Given the description of an element on the screen output the (x, y) to click on. 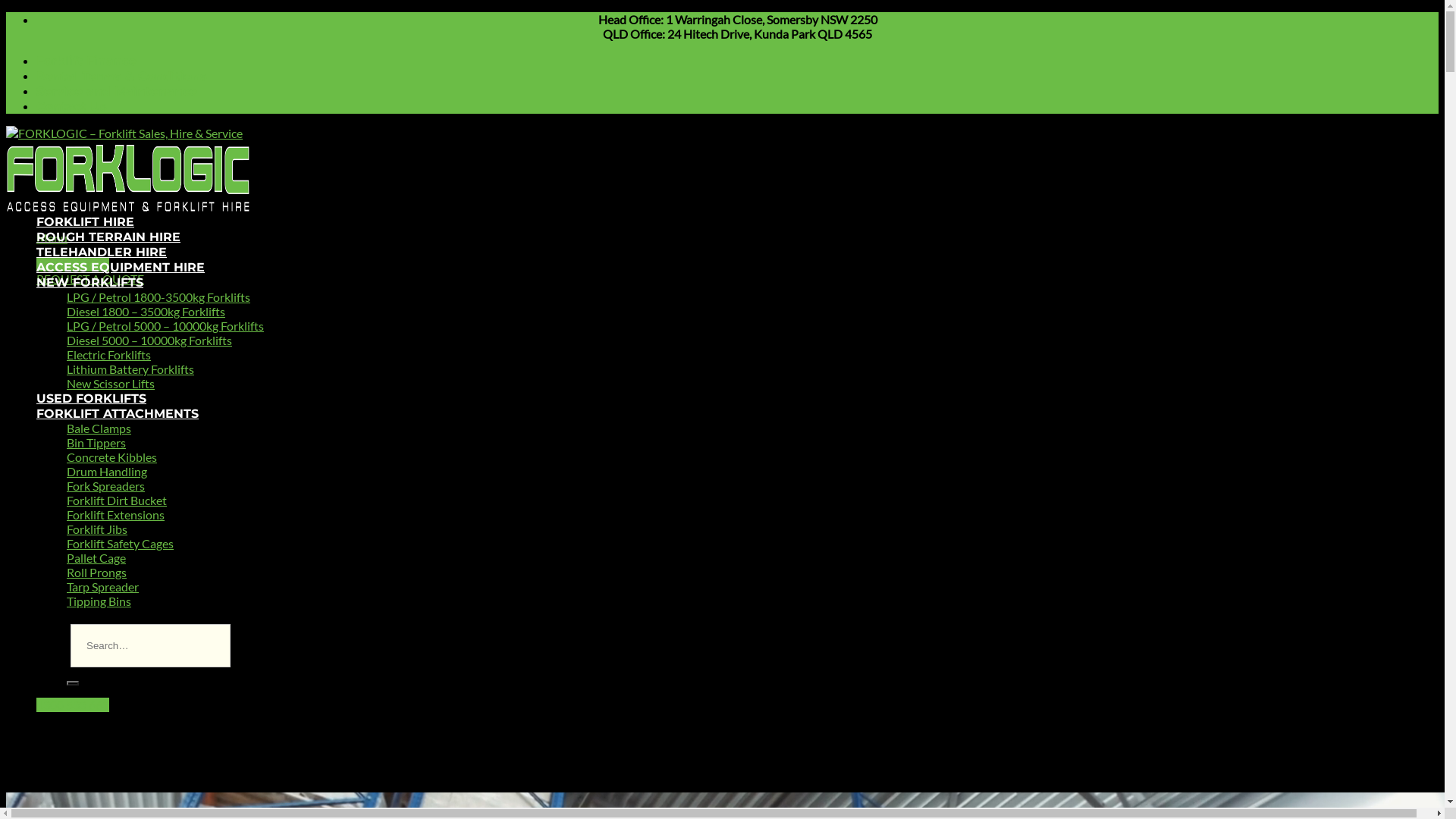
1300 533 663 Element type: text (72, 264)
FORKLIFT ATTACHMENTS Element type: text (117, 413)
USED FORKLIFTS Element type: text (91, 398)
NEW FORKLIFTS Element type: text (89, 282)
Drum Handling Element type: text (106, 471)
Search Element type: text (72, 682)
ROUGH TERRAIN HIRE Element type: text (108, 236)
Menu Element type: text (51, 237)
Concrete Kibbles Element type: text (111, 456)
Tarp Spreader Element type: text (102, 586)
REQUEST A QUOTE Element type: text (90, 278)
Electric Forklifts Element type: text (108, 354)
TELEHANDLER HIRE Element type: text (101, 251)
Roll Prongs Element type: text (96, 571)
Fork Spreaders Element type: text (105, 485)
Forklift Dirt Bucket Element type: text (116, 499)
Contact Us Element type: text (71, 106)
Forklift Safety Cages Element type: text (119, 543)
Pallet Cage Element type: text (95, 557)
1300 533 663 Element type: text (72, 704)
Forklift Jibs Element type: text (96, 528)
LPG / Petrol 1800-3500kg Forklifts Element type: text (158, 296)
FORKLIFT HIRE Element type: text (85, 221)
Bale Clamps Element type: text (98, 427)
ACCESS EQUIPMENT HIRE Element type: text (120, 267)
Bin Tippers Element type: text (95, 442)
Skip to content Element type: text (5, 11)
New Scissor Lifts Element type: text (110, 383)
Lithium Battery Forklifts Element type: text (130, 368)
Forklift Finance Element type: text (86, 60)
Rental Terms & Conditions Element type: text (121, 76)
Service and Maintenance Element type: text (116, 91)
Forklift Extensions Element type: text (115, 514)
Tipping Bins Element type: text (98, 600)
